Given the description of an element on the screen output the (x, y) to click on. 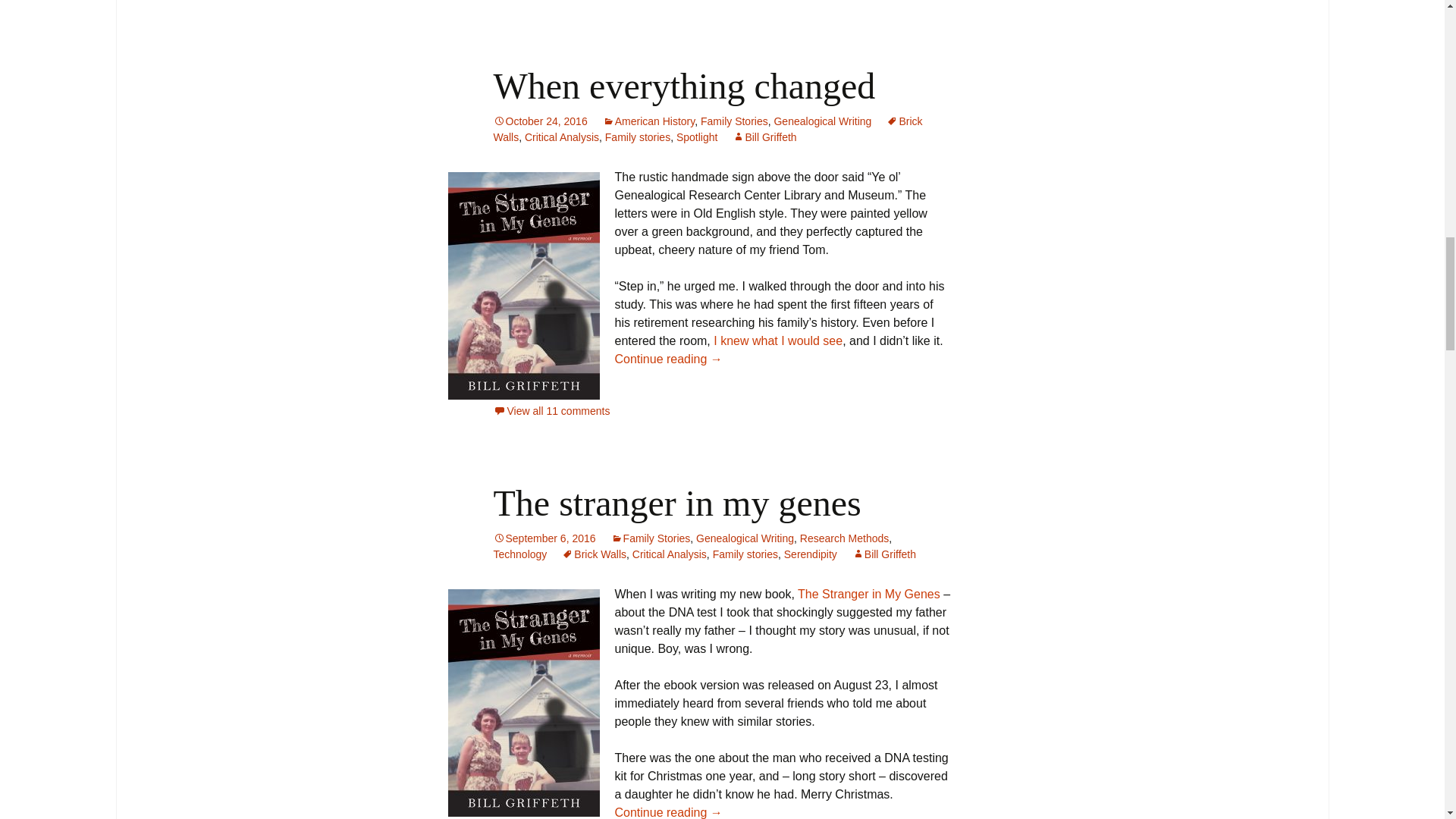
View all posts by Bill Griffeth (883, 553)
View all posts by Bill Griffeth (764, 137)
Permalink to When everything changed (539, 121)
Permalink to The stranger in my genes (544, 538)
